Given the description of an element on the screen output the (x, y) to click on. 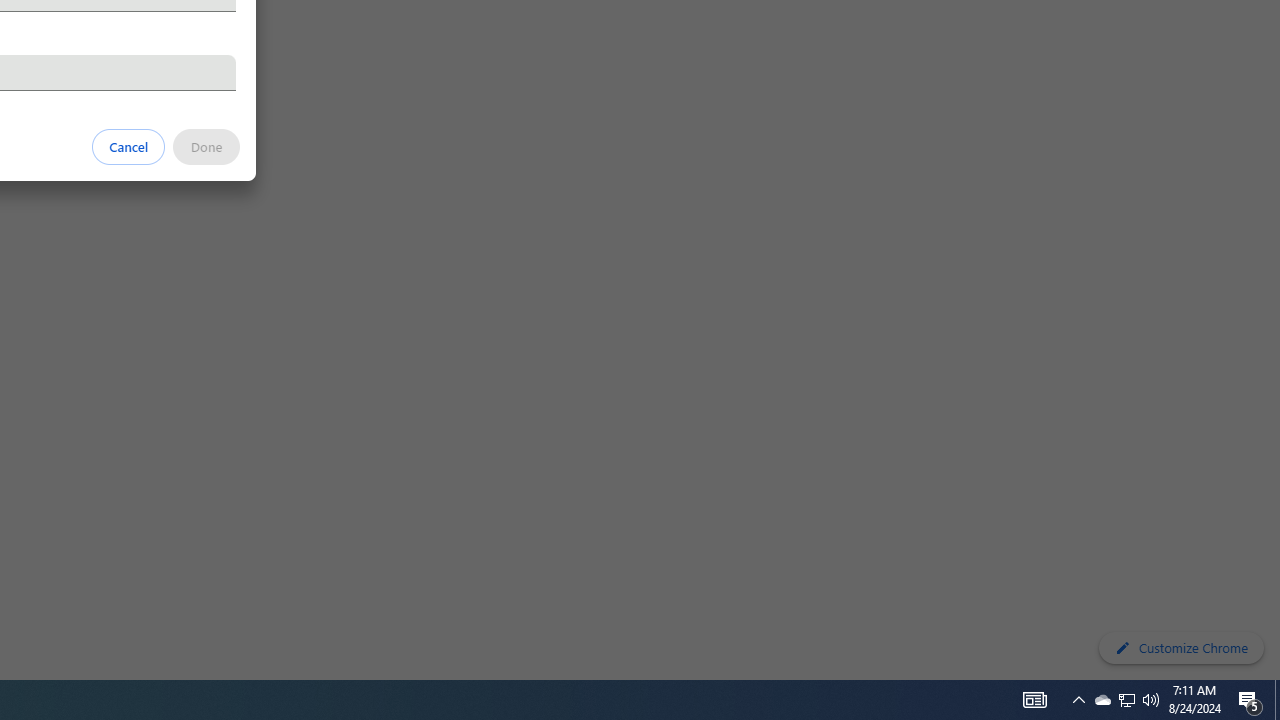
Done (206, 146)
Cancel (129, 146)
